Given the description of an element on the screen output the (x, y) to click on. 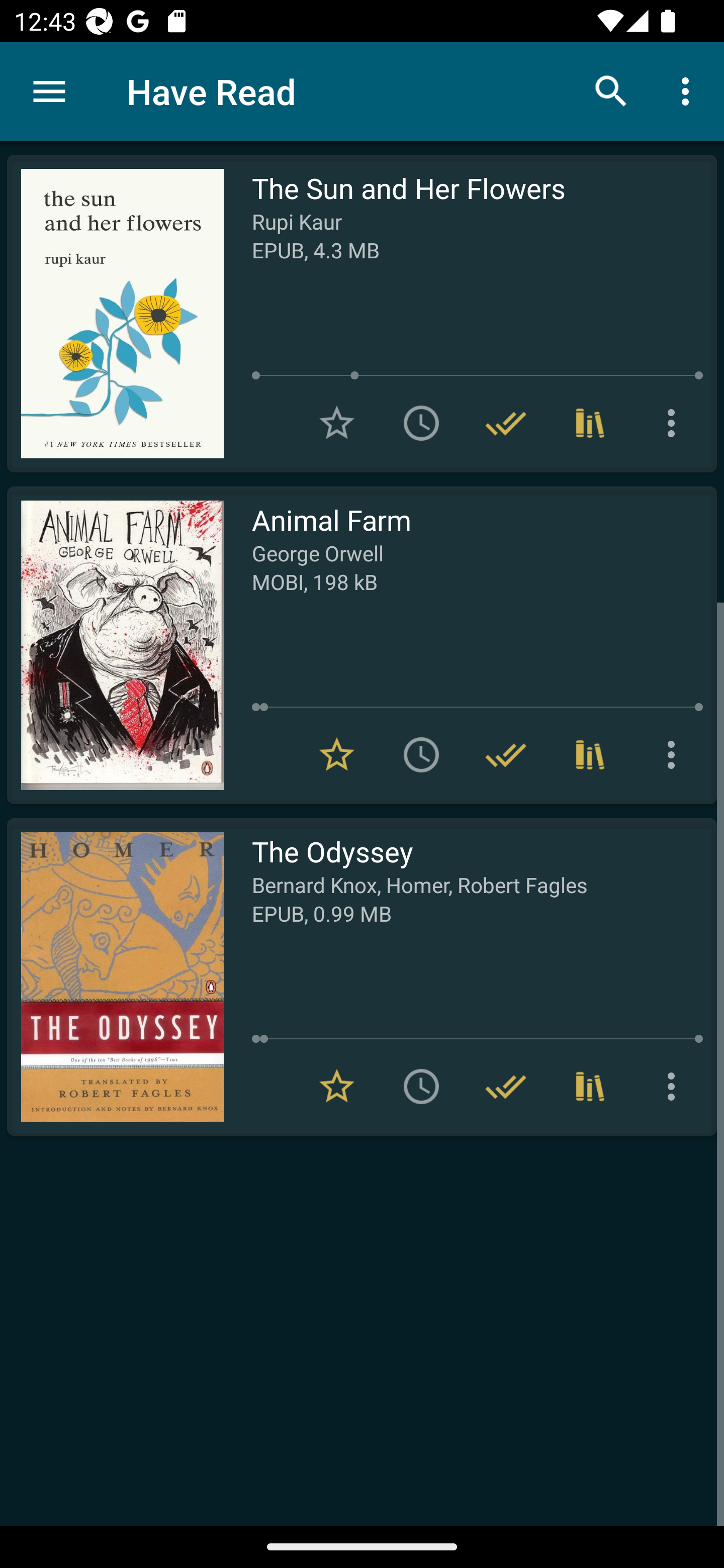
Menu (49, 91)
Search books & documents (611, 90)
More options (688, 90)
Read The Sun and Her Flowers (115, 313)
Add to Favorites (336, 423)
Add to To read (421, 423)
Remove from Have read (505, 423)
Collections (1) (590, 423)
More options (674, 423)
Read Animal Farm (115, 645)
Remove from Favorites (336, 753)
Add to To read (421, 753)
Remove from Have read (505, 753)
Collections (1) (590, 753)
More options (674, 753)
Read The Odyssey (115, 976)
Remove from Favorites (336, 1086)
Add to To read (421, 1086)
Remove from Have read (505, 1086)
Collections (2) (590, 1086)
More options (674, 1086)
